Given the description of an element on the screen output the (x, y) to click on. 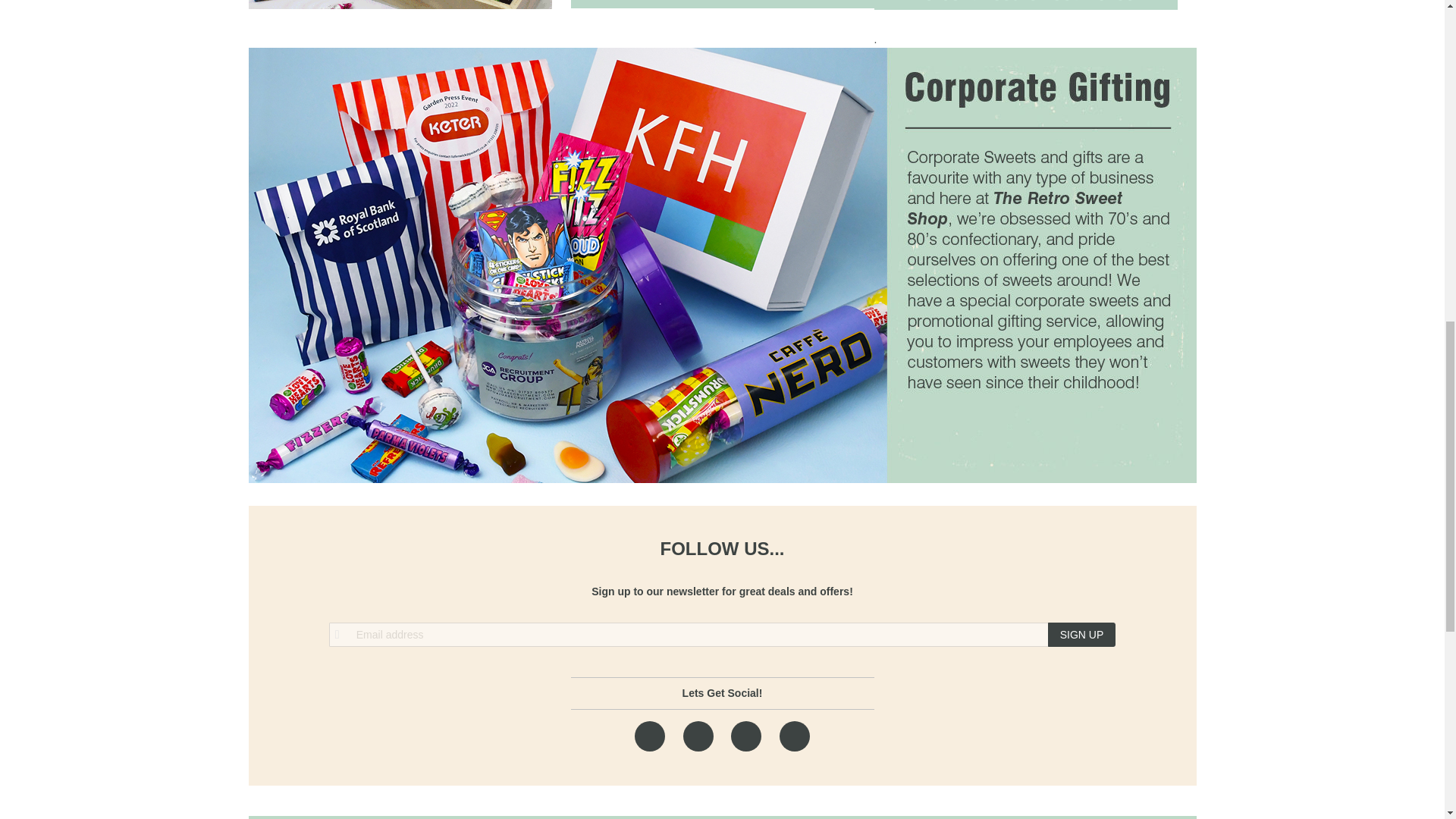
Subscribe (1082, 634)
